Given the description of an element on the screen output the (x, y) to click on. 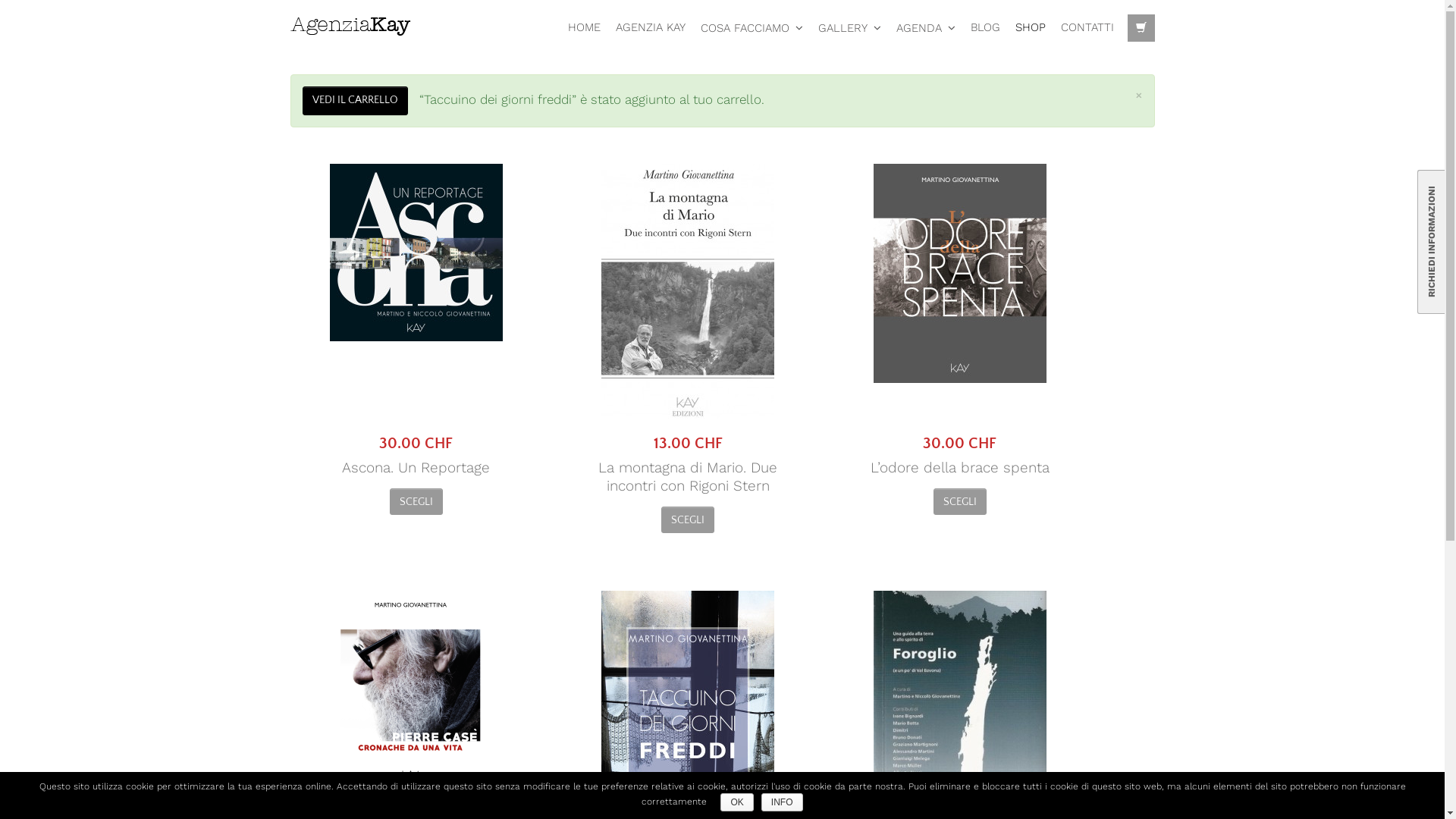
COSA FACCIAMO Element type: text (751, 27)
SCEGLI Element type: text (959, 501)
OK Element type: text (736, 802)
Agenzia Kay -  Element type: hover (353, 24)
SHOP Element type: text (1029, 27)
AGENDA Element type: text (925, 27)
La montagna di Mario. Due incontri con Rigoni Stern Element type: text (688, 476)
SCEGLI Element type: text (687, 519)
30.00 CHF Element type: text (960, 307)
CONTATTI Element type: text (1086, 27)
GALLERY Element type: text (848, 27)
13.00 CHF Element type: text (688, 307)
Ascona. Un Reportage Element type: text (415, 467)
BLOG Element type: text (985, 27)
30.00 CHF Element type: text (415, 307)
INFO Element type: text (782, 802)
HOME Element type: text (583, 27)
AGENZIA KAY Element type: text (650, 27)
VEDI IL CARRELLO Element type: text (354, 100)
SCEGLI Element type: text (415, 501)
